Given the description of an element on the screen output the (x, y) to click on. 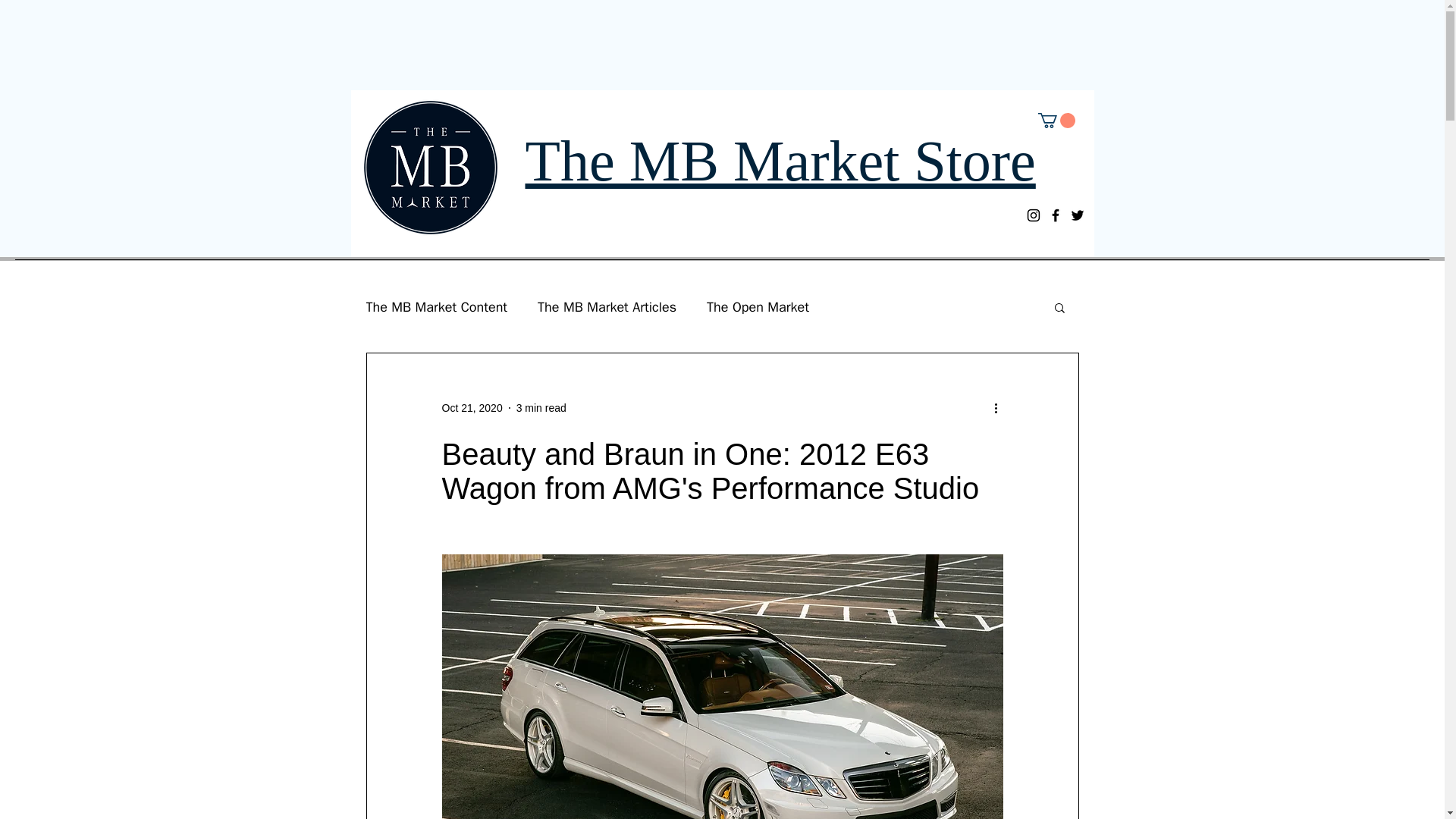
Oct 21, 2020 (471, 408)
The MB Market Content (435, 307)
The Open Market (757, 307)
3 min read (541, 408)
The MB Market Articles (607, 307)
